Given the description of an element on the screen output the (x, y) to click on. 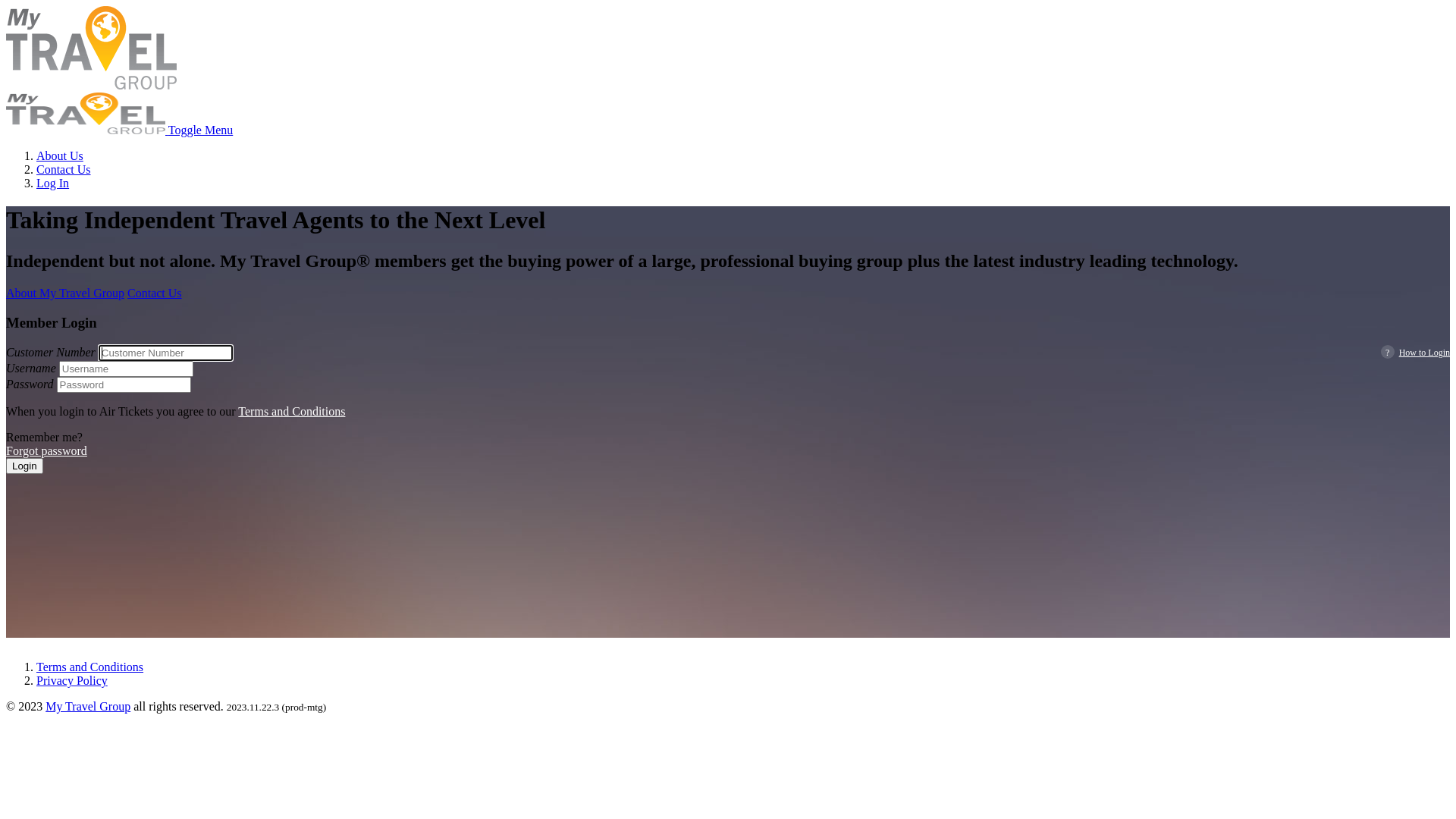
Forgot password Element type: text (46, 450)
Contact Us Element type: text (154, 292)
Return to the Homepage Element type: hover (87, 129)
Contact Us Element type: text (63, 169)
About Us Element type: text (59, 155)
About My Travel Group Element type: text (65, 292)
Login Element type: hover (24, 465)
Privacy Policy Element type: text (71, 680)
Toggle Menu Element type: text (200, 129)
Terms and Conditions Element type: text (89, 666)
My Travel Group Element type: text (87, 705)
Terms and Conditions Element type: text (291, 410)
Login Element type: text (24, 465)
?
How to Login Element type: text (1414, 353)
Log In Element type: text (52, 182)
